Given the description of an element on the screen output the (x, y) to click on. 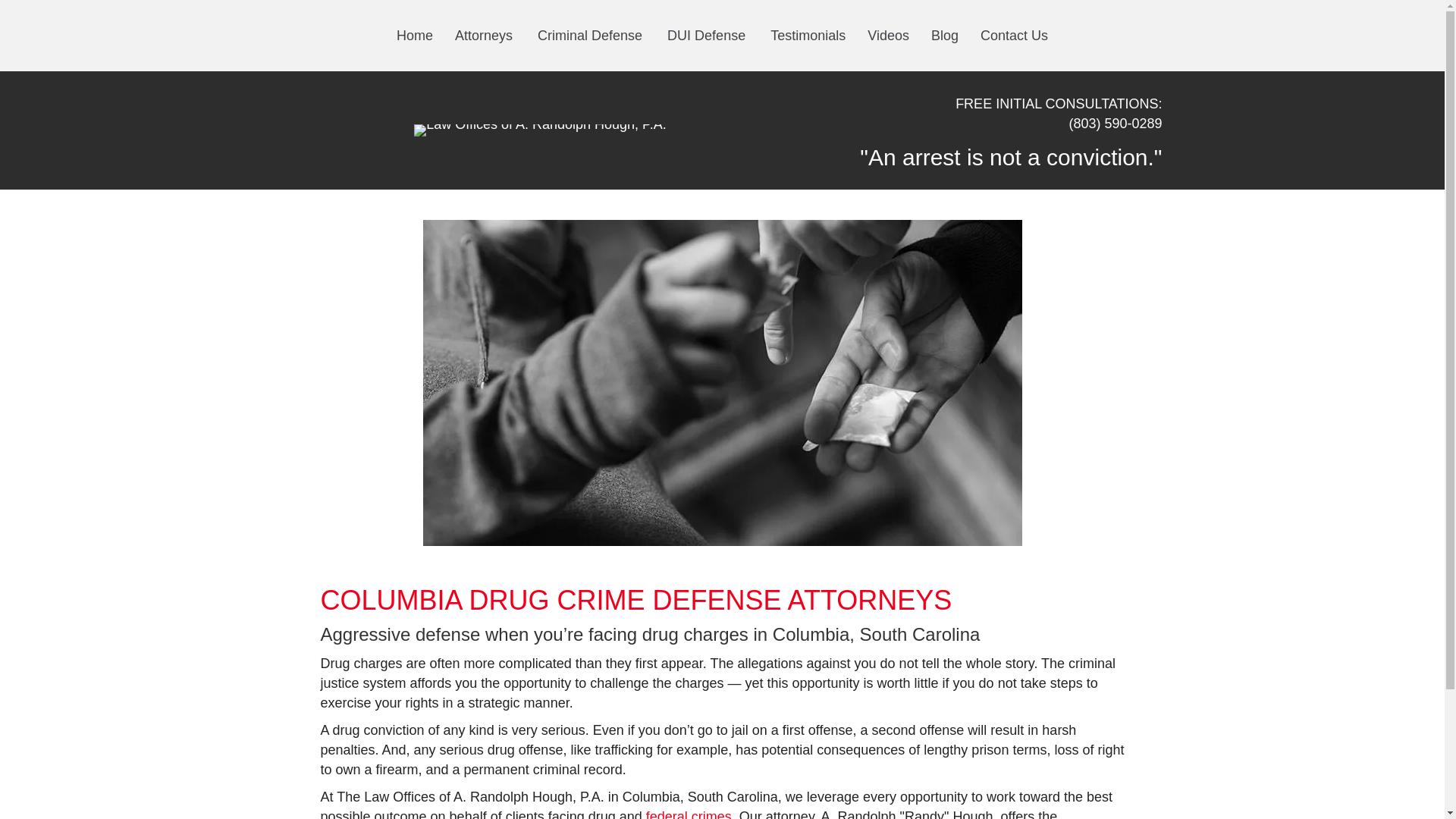
Testimonials (808, 35)
Criminal Defense (591, 35)
DUI Defense (707, 35)
Home (414, 35)
Attorneys (484, 35)
Blog (944, 35)
Law Offices of A. Randolph Hough, P.A. (539, 130)
Videos (888, 35)
Contact Us (1013, 35)
